Given the description of an element on the screen output the (x, y) to click on. 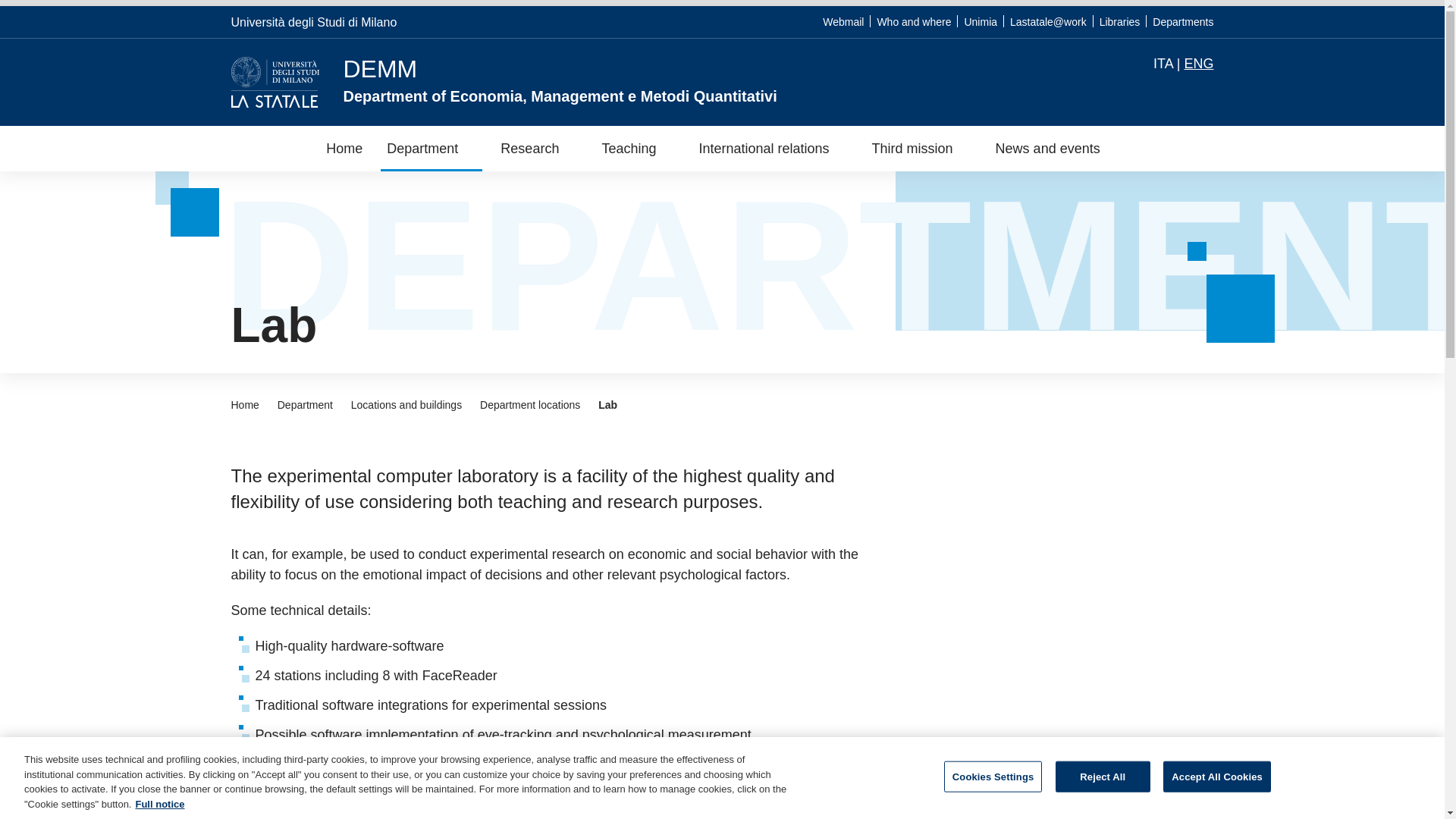
Libraries (1119, 21)
ITA (1163, 63)
Research (539, 148)
Departments (1182, 21)
ENG (1197, 63)
Go to the website (313, 21)
Search in the website (1203, 93)
Who and where (913, 21)
Department (430, 148)
Sito in Italian (1163, 63)
Unimia (980, 21)
Home (344, 148)
Sito in English (1197, 63)
